Given the description of an element on the screen output the (x, y) to click on. 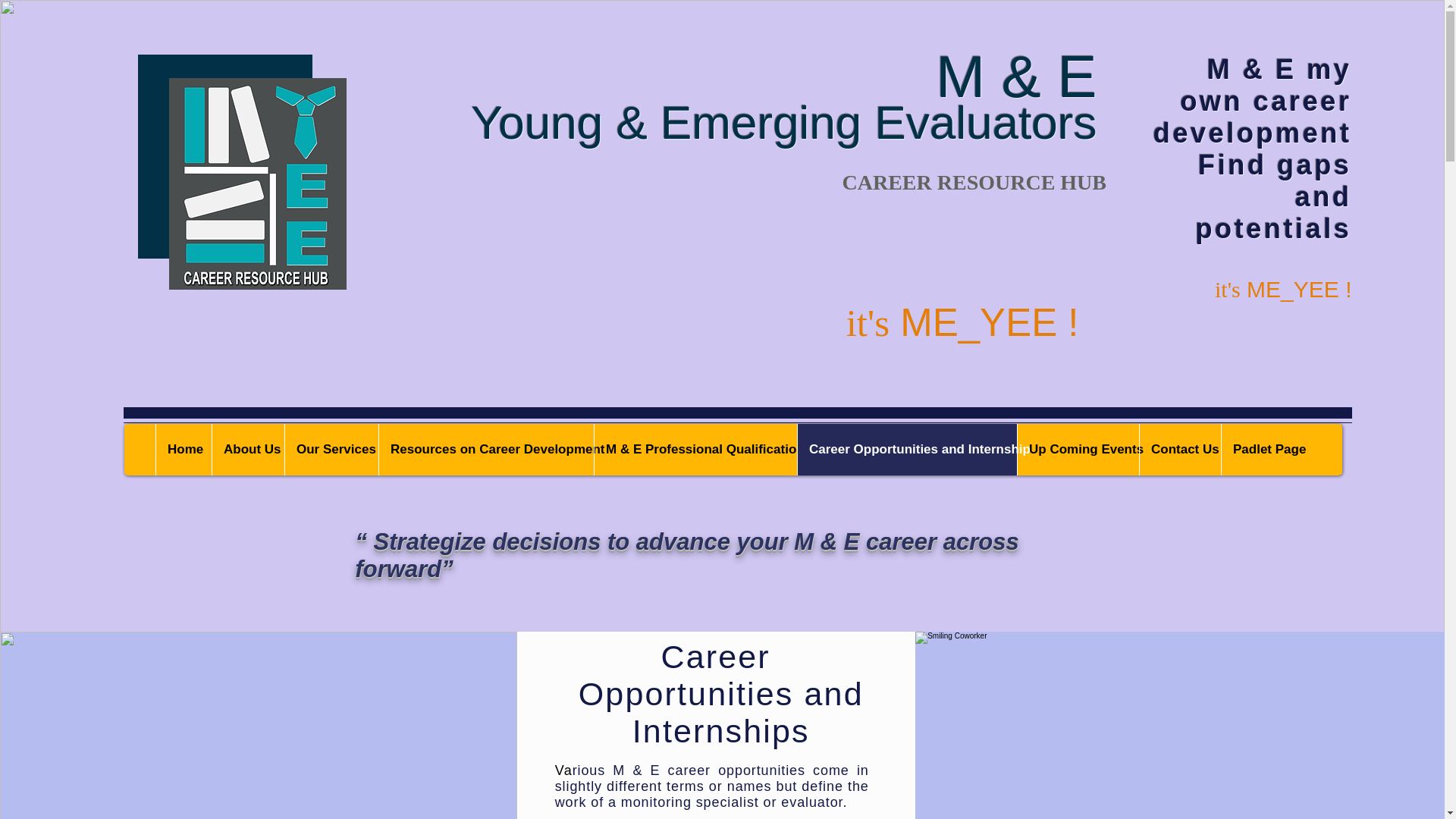
Contact Us (1179, 449)
Home (183, 449)
Padlet Page (1265, 449)
Resources on Career Development (486, 449)
Up Coming Events (1077, 449)
Our Services (330, 449)
About Us (247, 449)
Career Opportunities and Internship (906, 449)
